Given the description of an element on the screen output the (x, y) to click on. 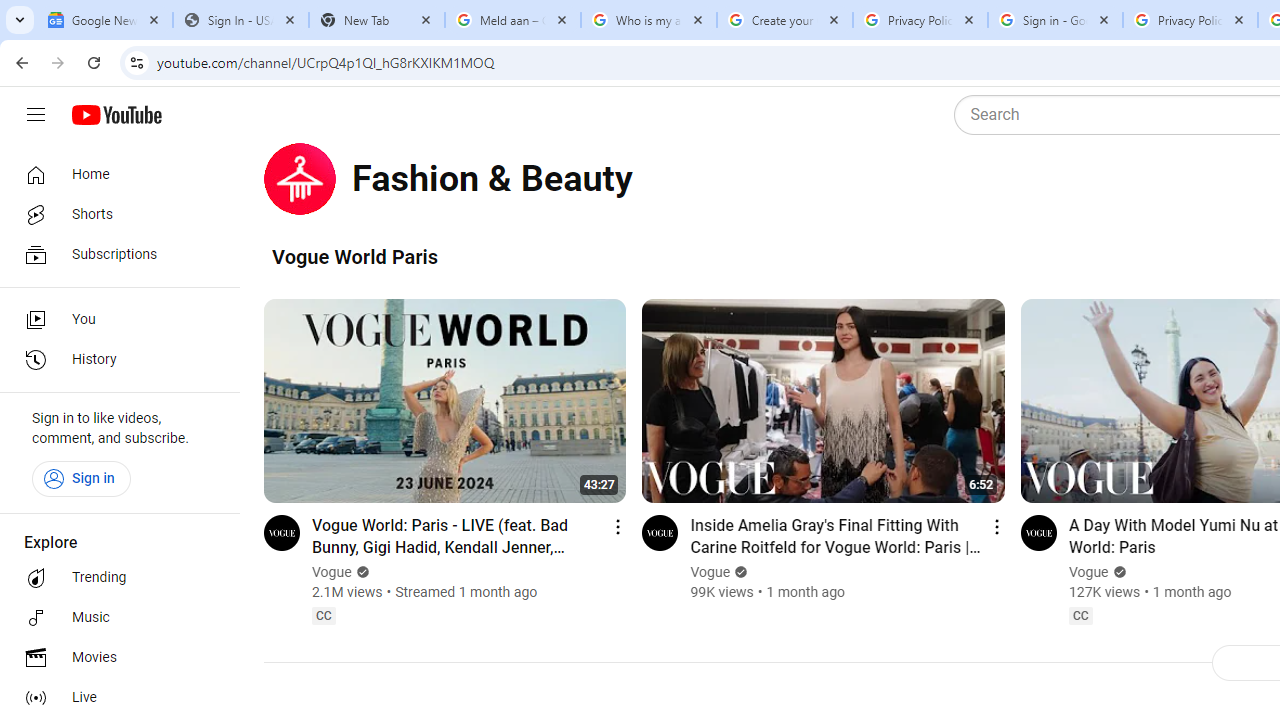
Music (113, 617)
Create your Google Account (784, 20)
Movies (113, 657)
Sign in - Google Accounts (1055, 20)
Action menu (996, 526)
YouTube Home (116, 115)
Home (113, 174)
Vogue World Paris (355, 256)
